Given the description of an element on the screen output the (x, y) to click on. 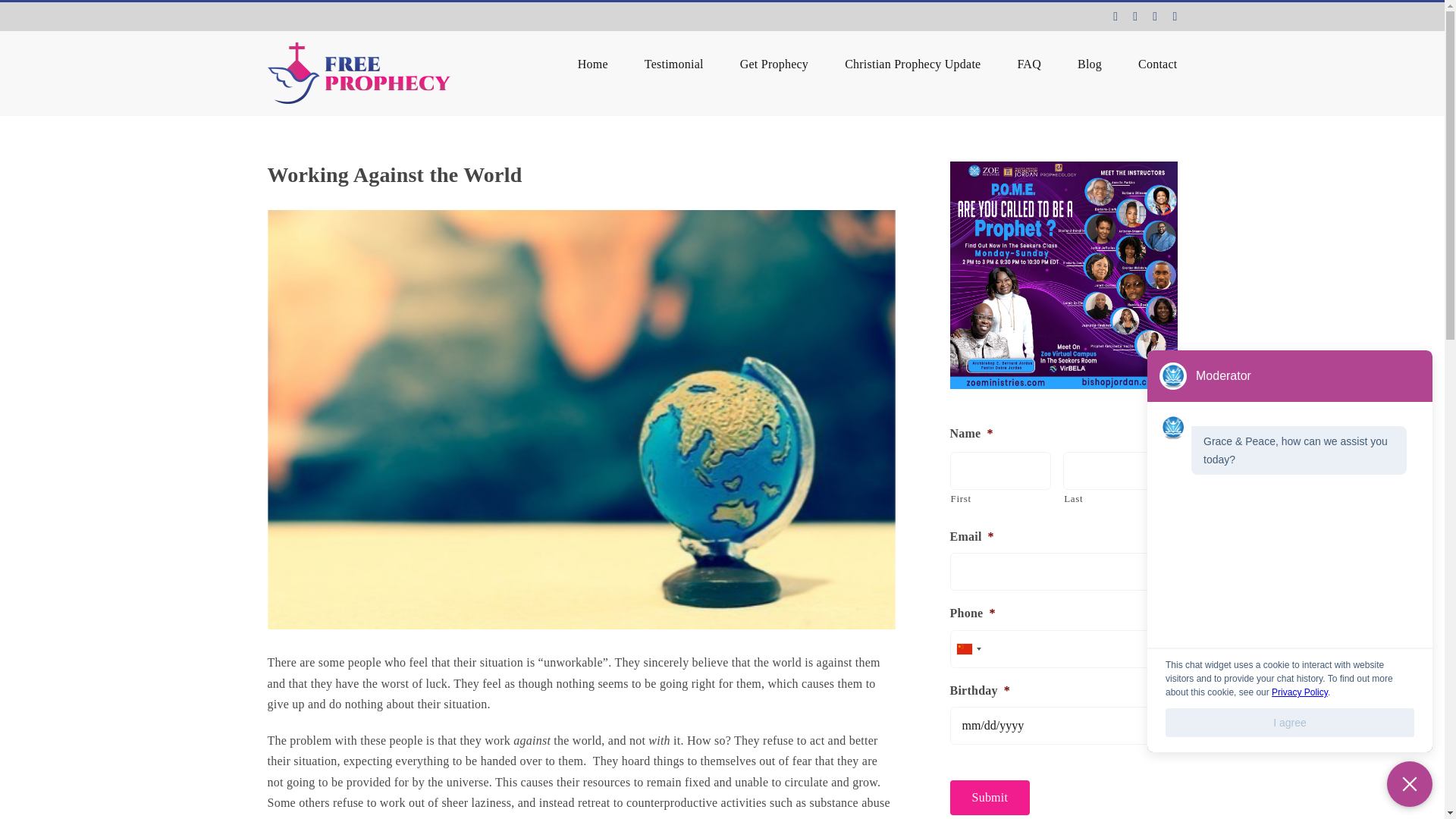
Christian Prophecy Update (911, 63)
Get Prophecy (773, 63)
Submit (989, 797)
Testimonial (674, 63)
